Given the description of an element on the screen output the (x, y) to click on. 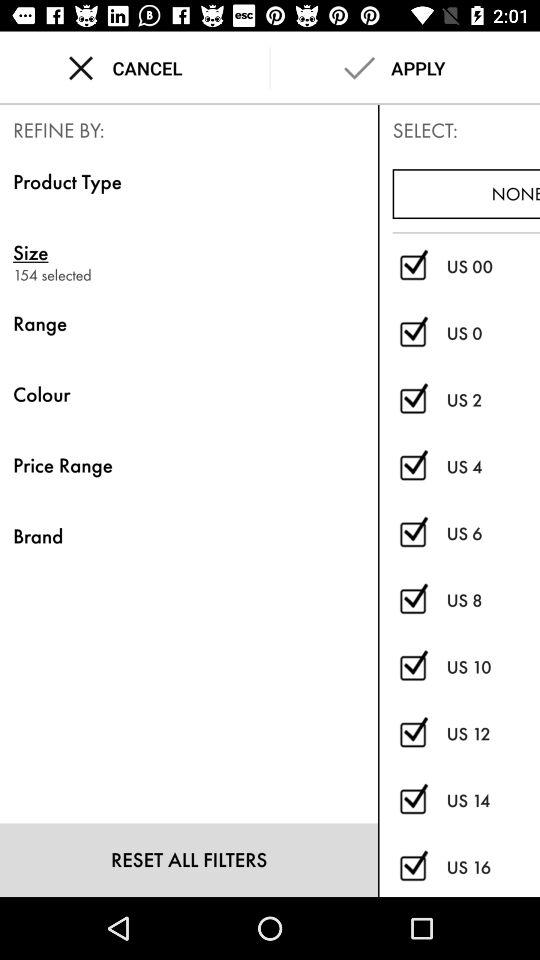
select/deselect (412, 467)
